Given the description of an element on the screen output the (x, y) to click on. 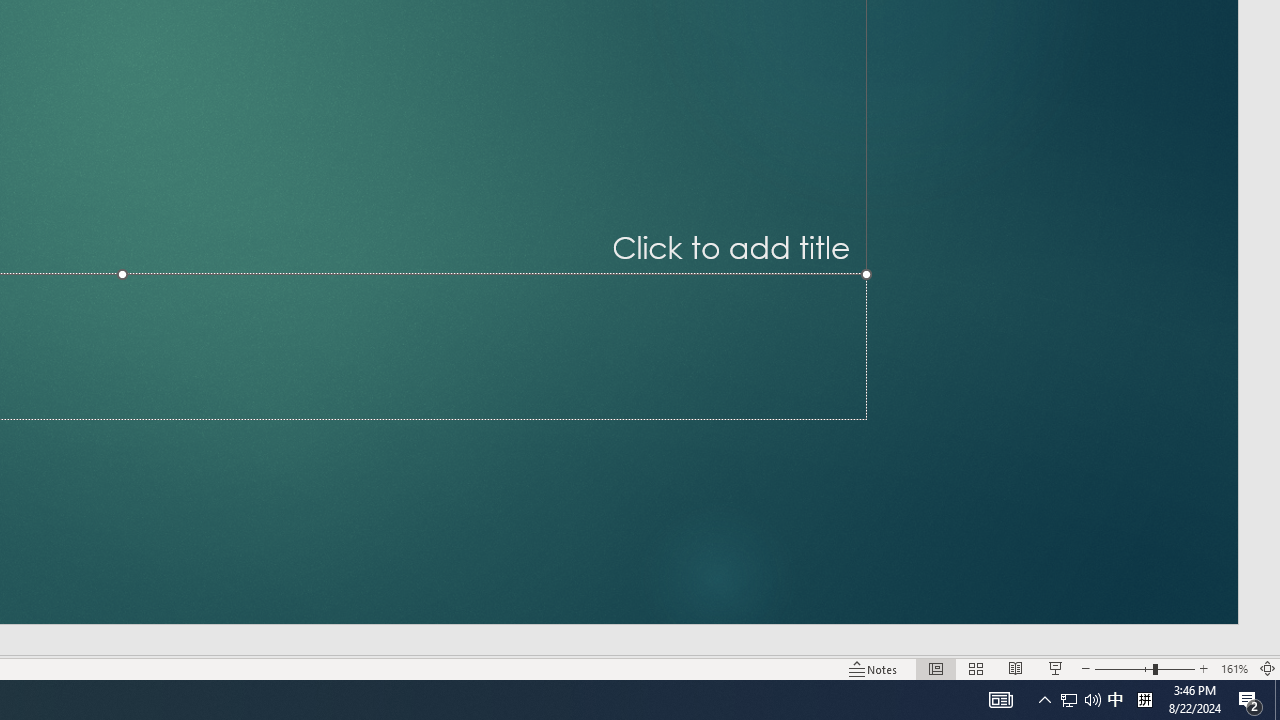
Zoom 161% (1234, 668)
